Given the description of an element on the screen output the (x, y) to click on. 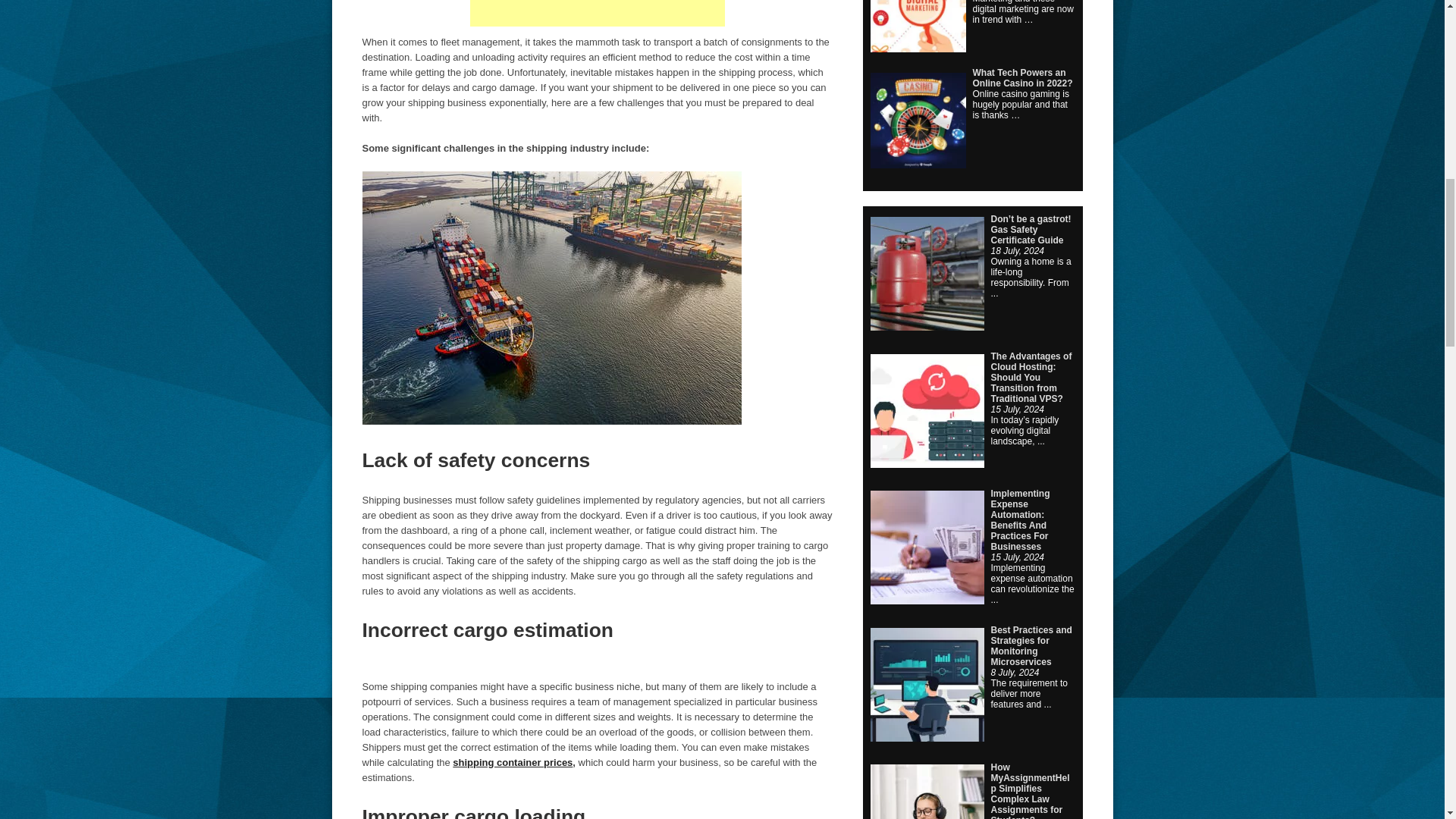
Advertisement (597, 13)
shipping container prices (512, 762)
